Given the description of an element on the screen output the (x, y) to click on. 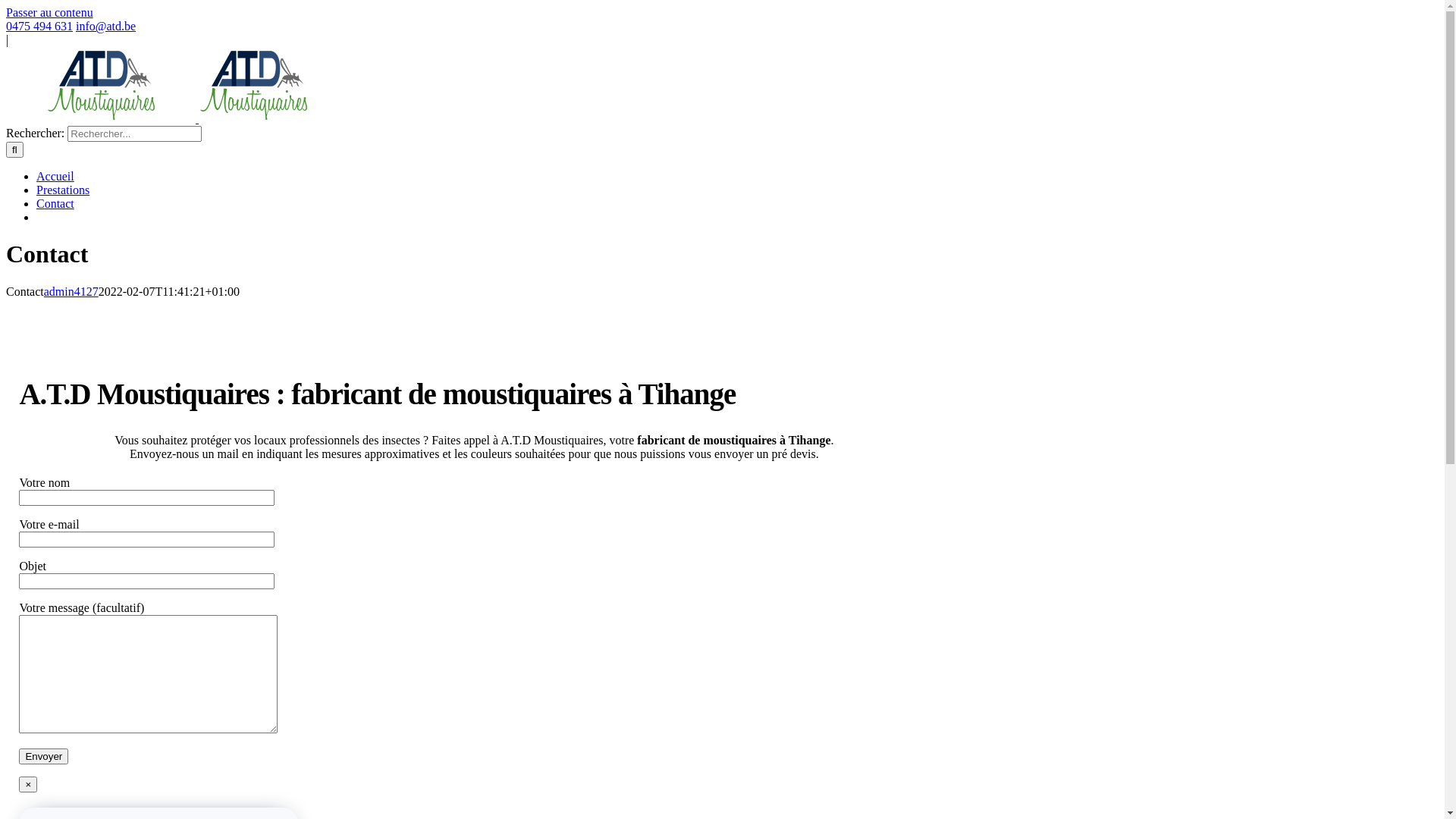
admin4127 Element type: text (70, 291)
Accueil Element type: text (63, 175)
Envoyer Element type: text (43, 756)
Contact Element type: text (63, 203)
info@atd.be Element type: text (105, 25)
Passer au contenu Element type: text (49, 12)
0475 494 631 Element type: text (39, 25)
Prestations Element type: text (71, 189)
